Given the description of an element on the screen output the (x, y) to click on. 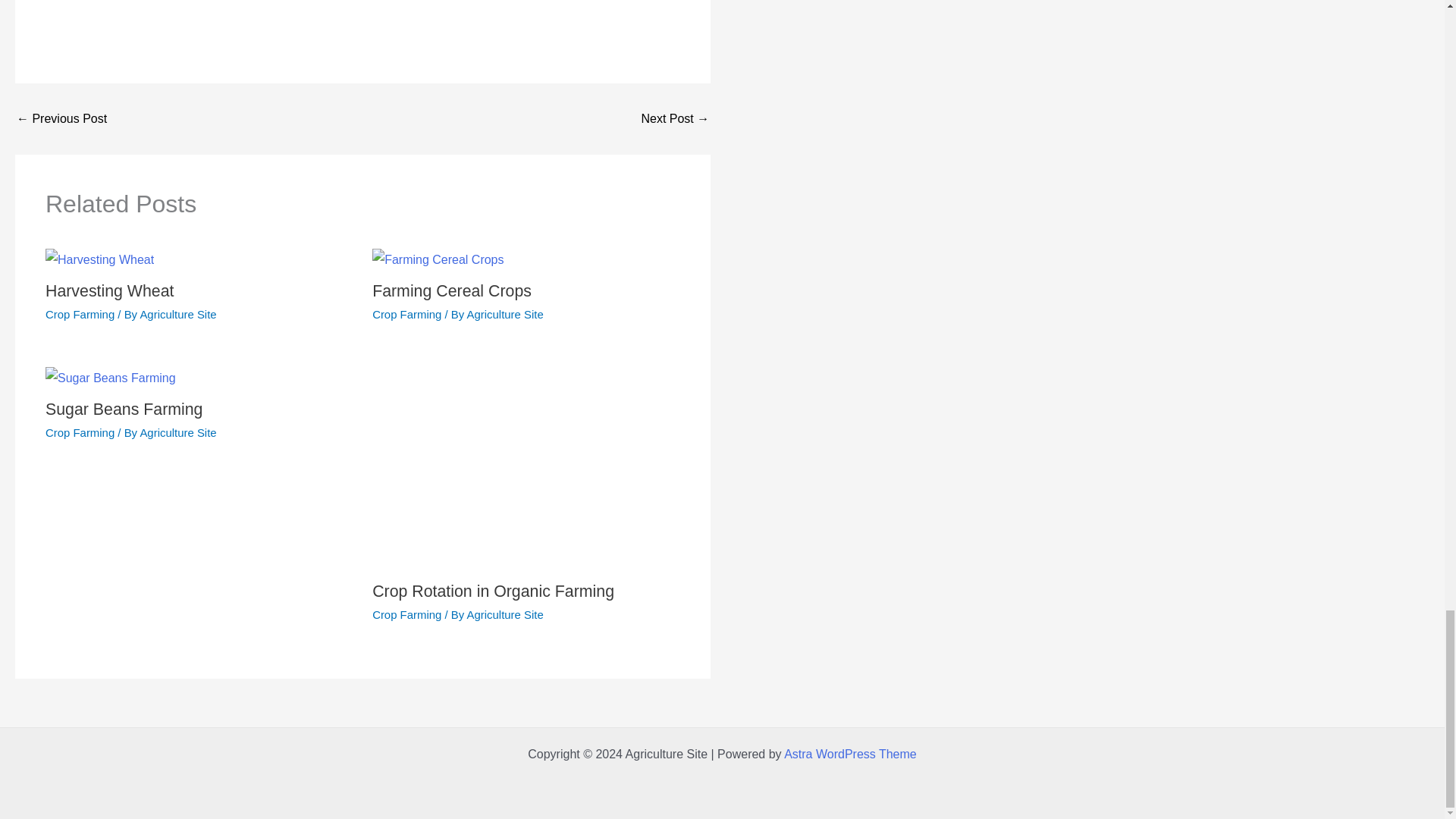
Harvesting Wheat (109, 290)
Agriculture Site (505, 314)
Crop Farming (80, 314)
View all posts by Agriculture Site (505, 314)
Agriculture Site (505, 614)
Agriculture Site (177, 314)
Sugar Beans Farming (123, 409)
Agriculture Site (177, 431)
Treatment of Diarrhea in Goats (61, 119)
Crop Farming (406, 314)
View all posts by Agriculture Site (177, 431)
Crop Farming (80, 431)
View all posts by Agriculture Site (505, 614)
Farming Cereal Crops (451, 290)
Crop Farming (406, 614)
